Given the description of an element on the screen output the (x, y) to click on. 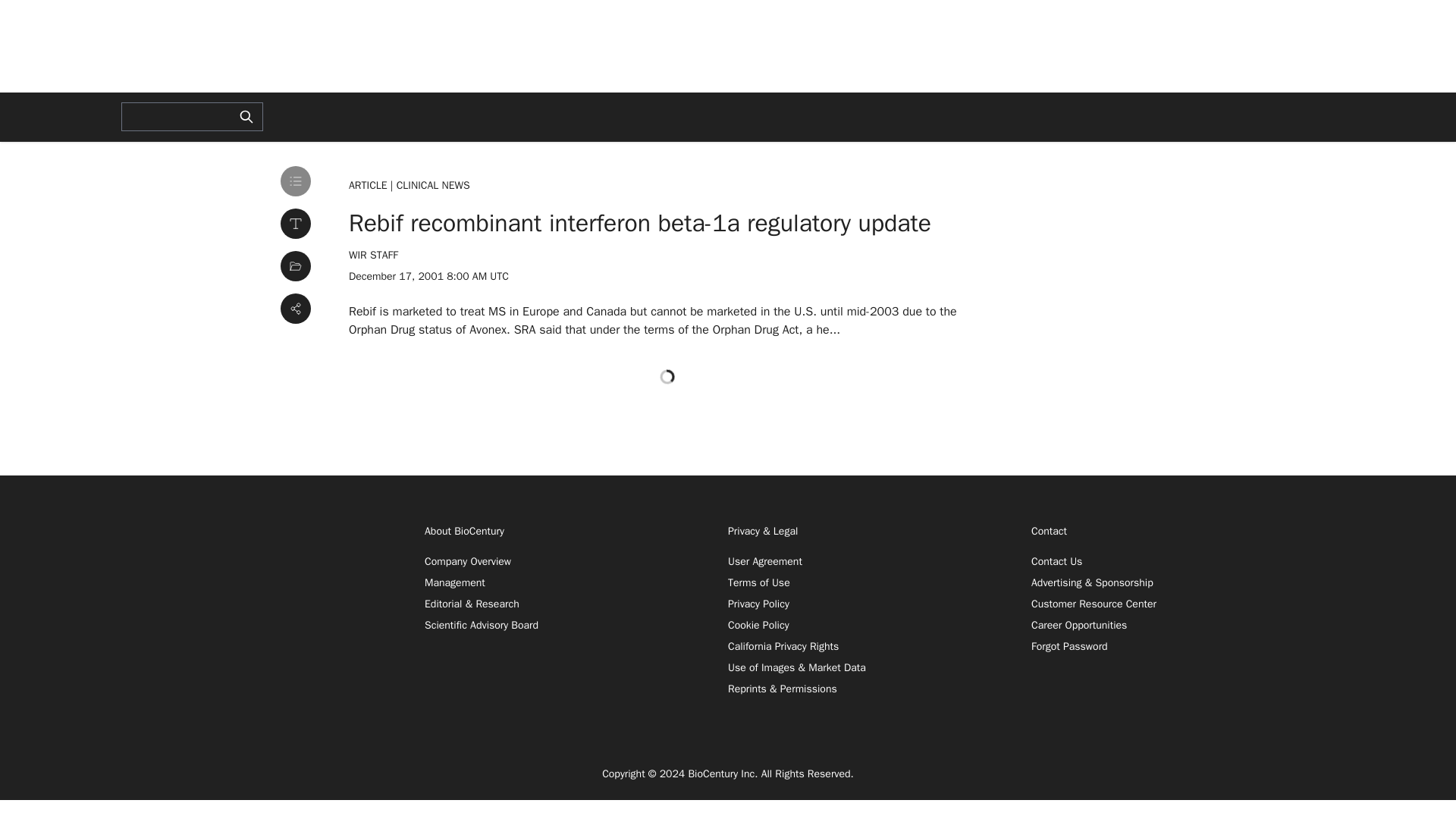
Scientific Advisory Board (481, 625)
Contact Us (1055, 561)
Career Opportunities (1078, 625)
User Agreement (765, 561)
Cookie Policy (758, 625)
California Privacy Rights (783, 645)
Customer Resource Center (1093, 603)
Management (454, 582)
Forgot Password (1069, 645)
Privacy Policy (758, 603)
